Given the description of an element on the screen output the (x, y) to click on. 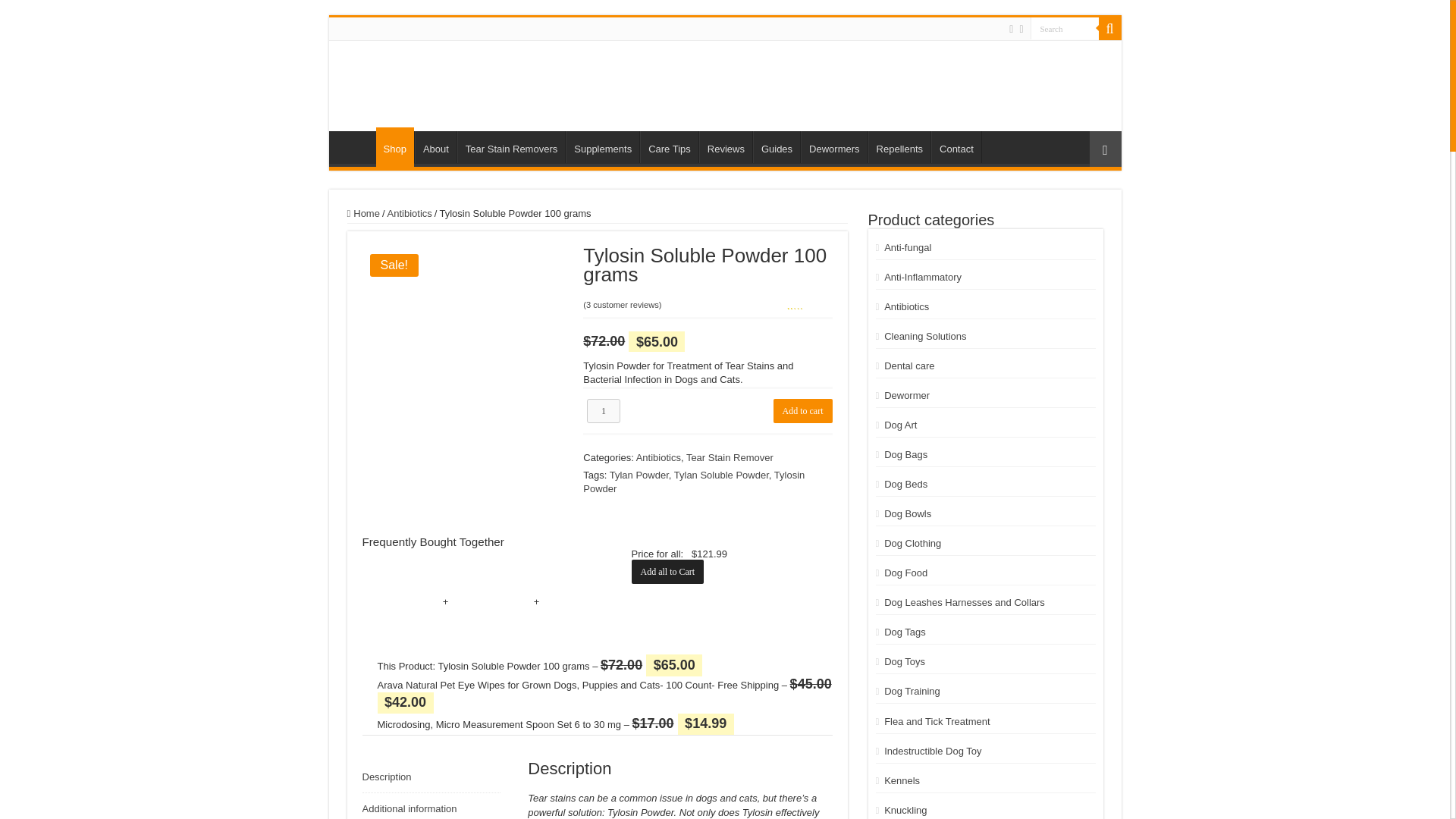
Tear Stain Remover (729, 457)
Additional information (431, 806)
About (435, 146)
Random Article (1105, 149)
Home (355, 146)
Guides (775, 146)
Home (363, 213)
Antibiotics (409, 213)
Tylan Soluble Powder (721, 474)
Search (1063, 28)
